Given the description of an element on the screen output the (x, y) to click on. 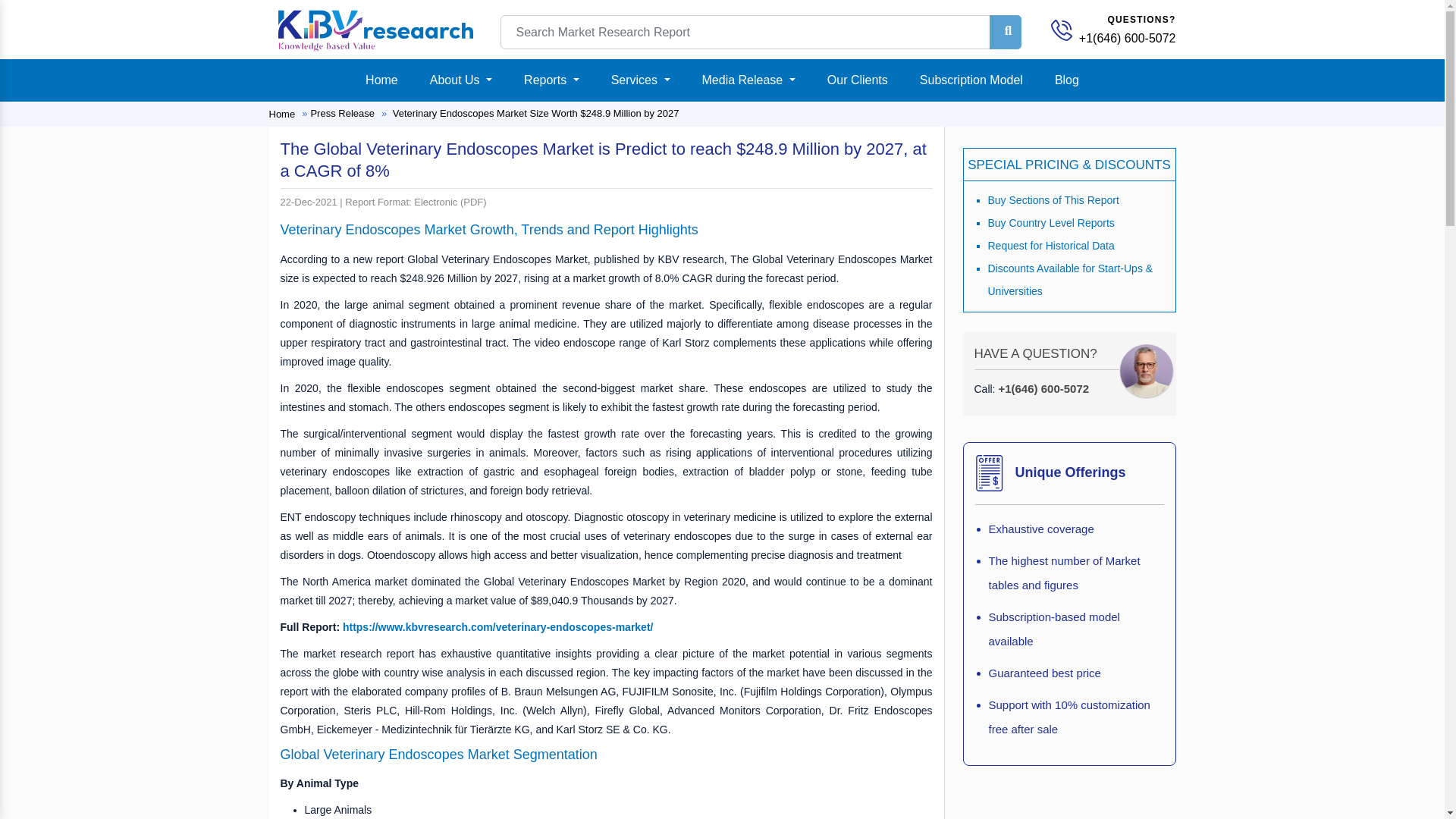
Reports (551, 80)
KBV Research (374, 29)
Services (641, 80)
Home (381, 80)
KBV Research (374, 30)
About Us (460, 80)
Our Clients (857, 80)
Subscription Model (971, 80)
Media Release (748, 80)
Blog (1066, 80)
